Given the description of an element on the screen output the (x, y) to click on. 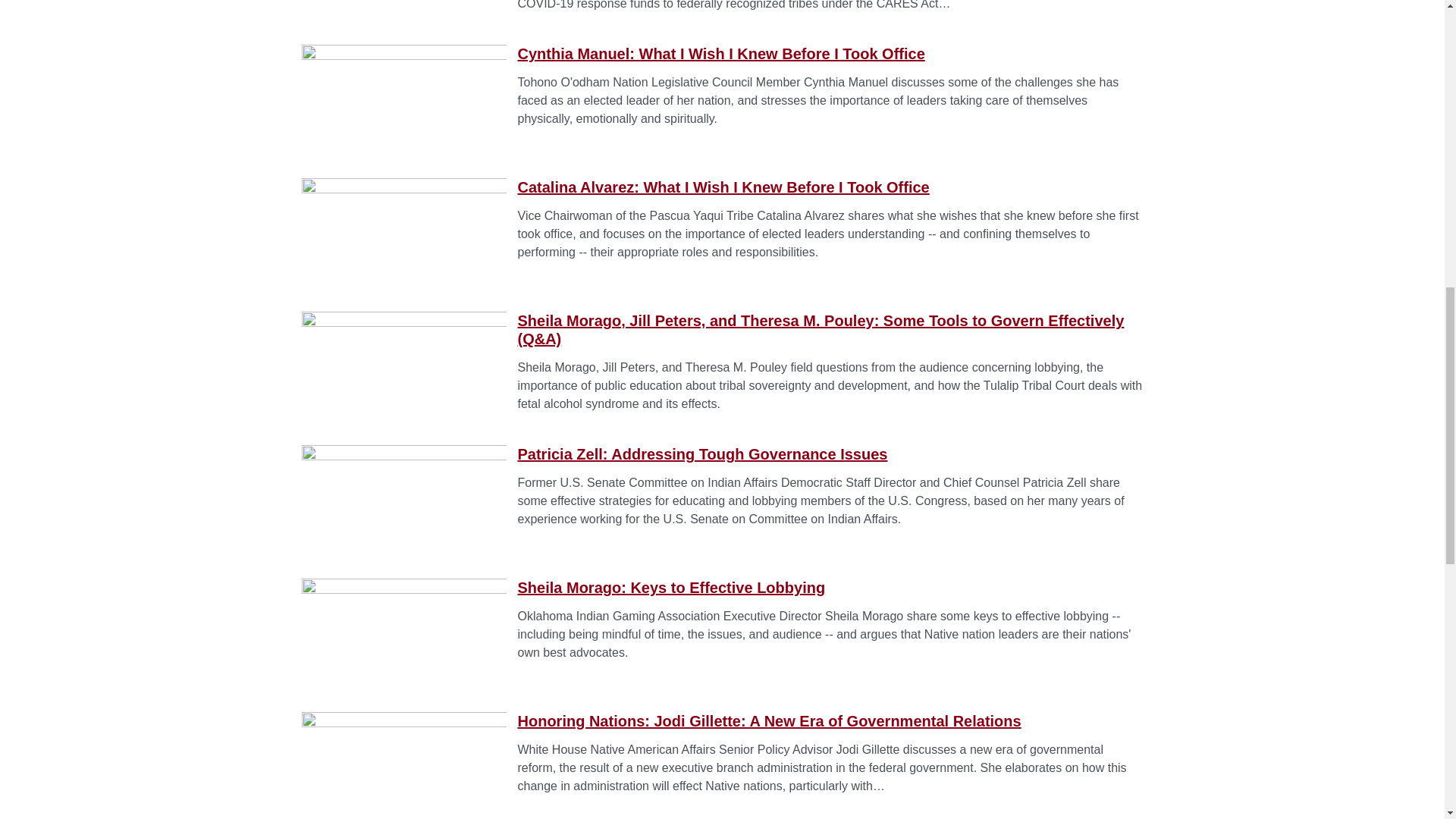
Patricia Zell: Addressing Tough Governance Issues (701, 453)
Catalina Alvarez: What I Wish I Knew Before I Took Office (722, 187)
Cynthia Manuel: What I Wish I Knew Before I Took Office (720, 53)
Sheila Morago: Keys to Effective Lobbying (670, 587)
